Given the description of an element on the screen output the (x, y) to click on. 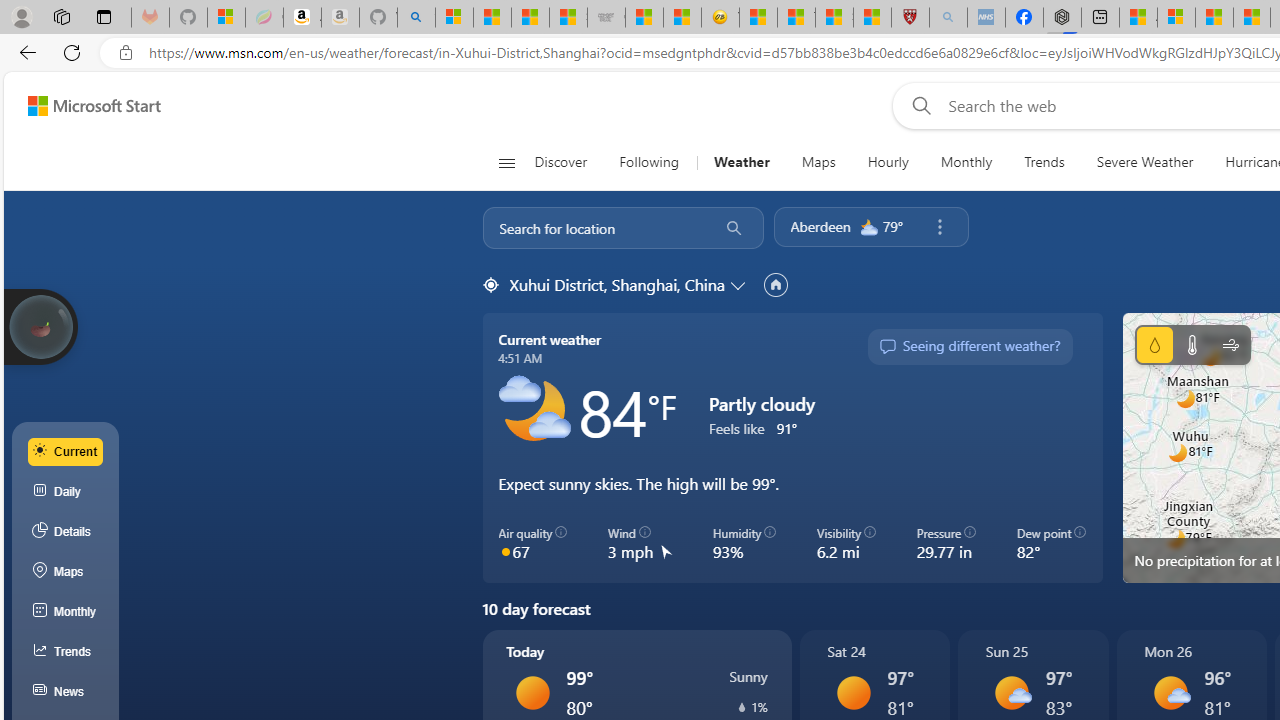
Change location (739, 285)
Wind 3 mph (639, 543)
Maps (818, 162)
Mostly sunny (1169, 692)
Trends (65, 651)
Maps (818, 162)
